Given the description of an element on the screen output the (x, y) to click on. 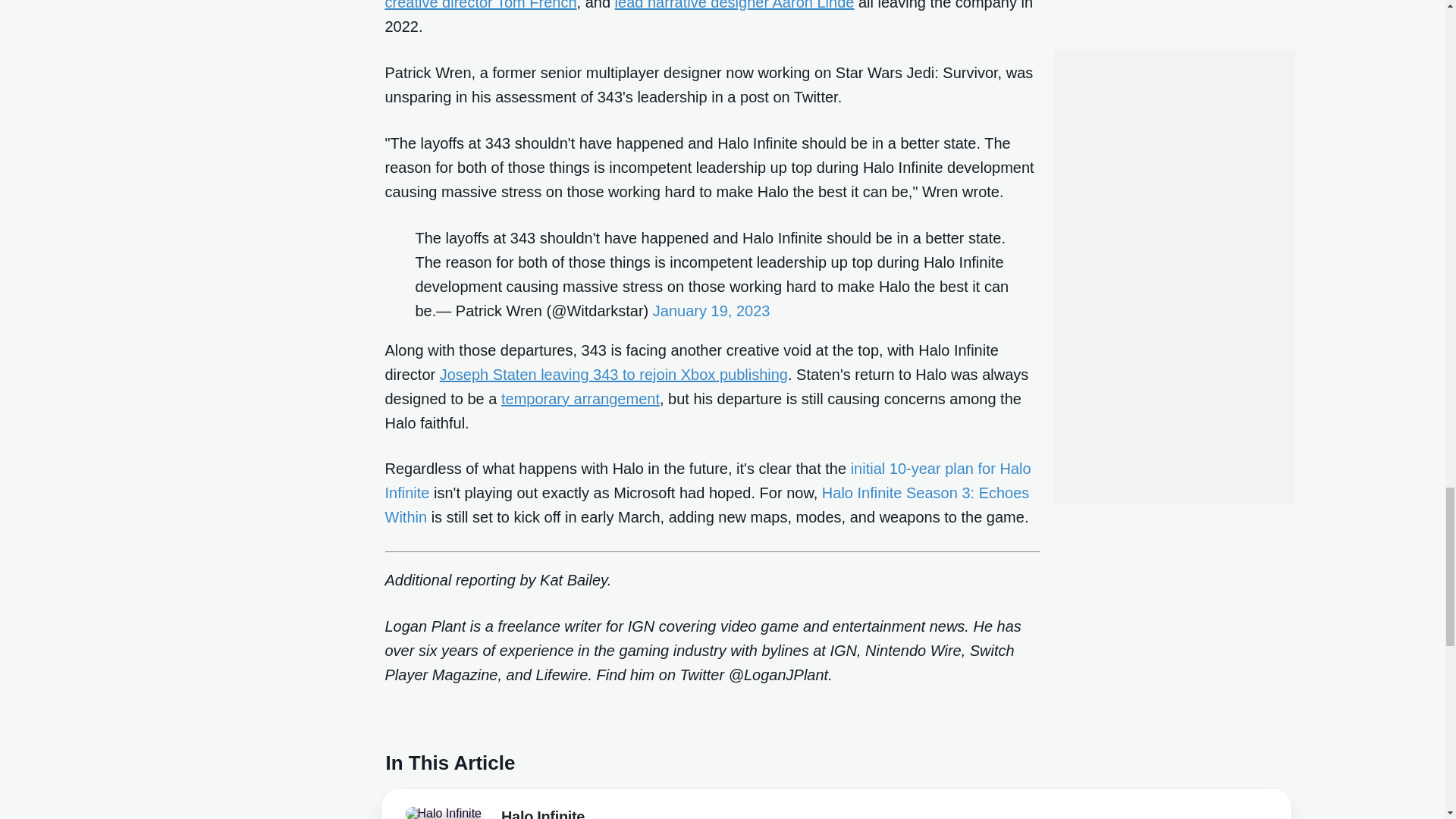
Halo Infinite (542, 813)
Halo Infinite (448, 815)
Halo Infinite (442, 812)
